Given the description of an element on the screen output the (x, y) to click on. 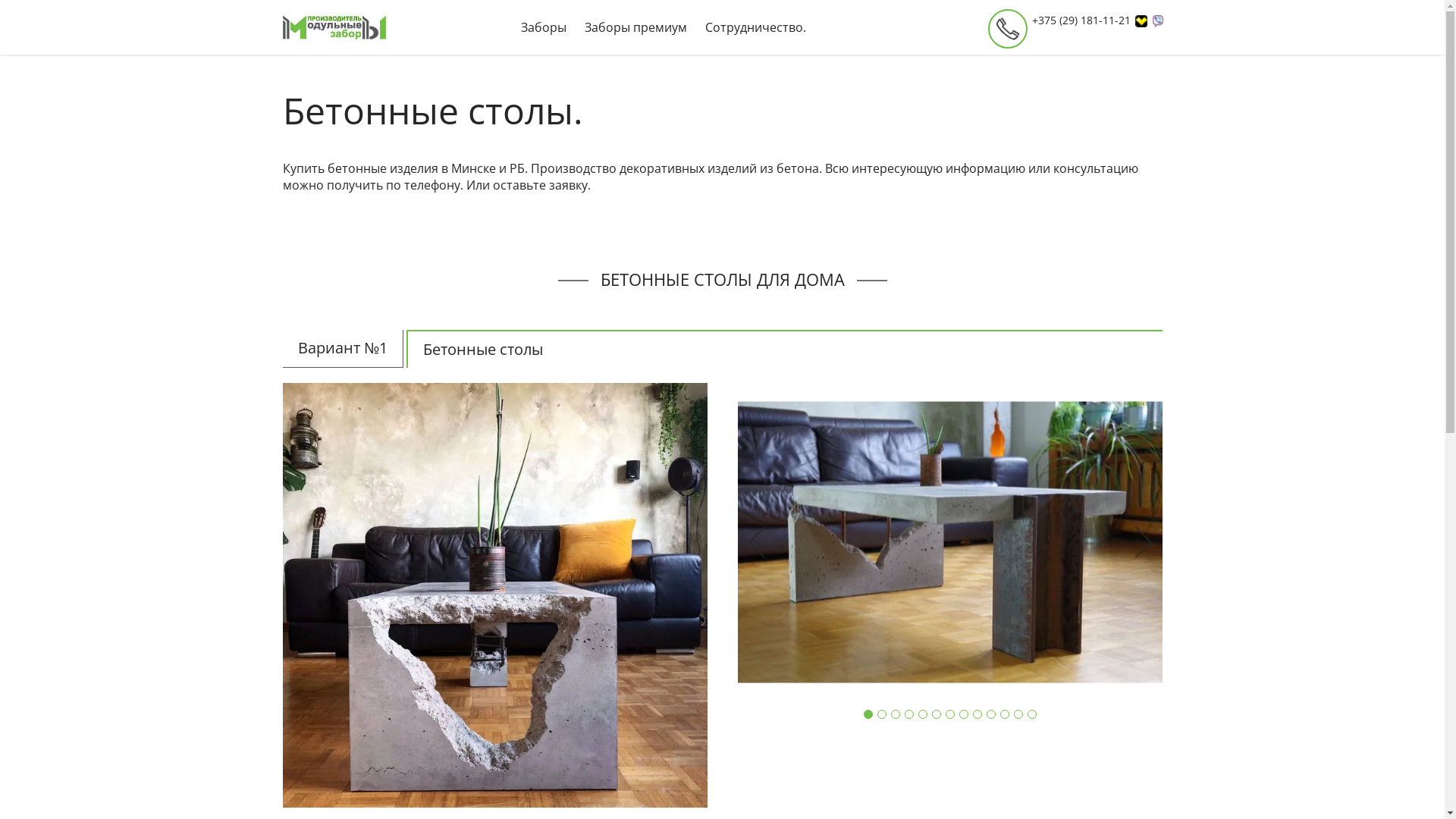
+375 (29) 181-11-21 Element type: text (1088, 20)
